Given the description of an element on the screen output the (x, y) to click on. 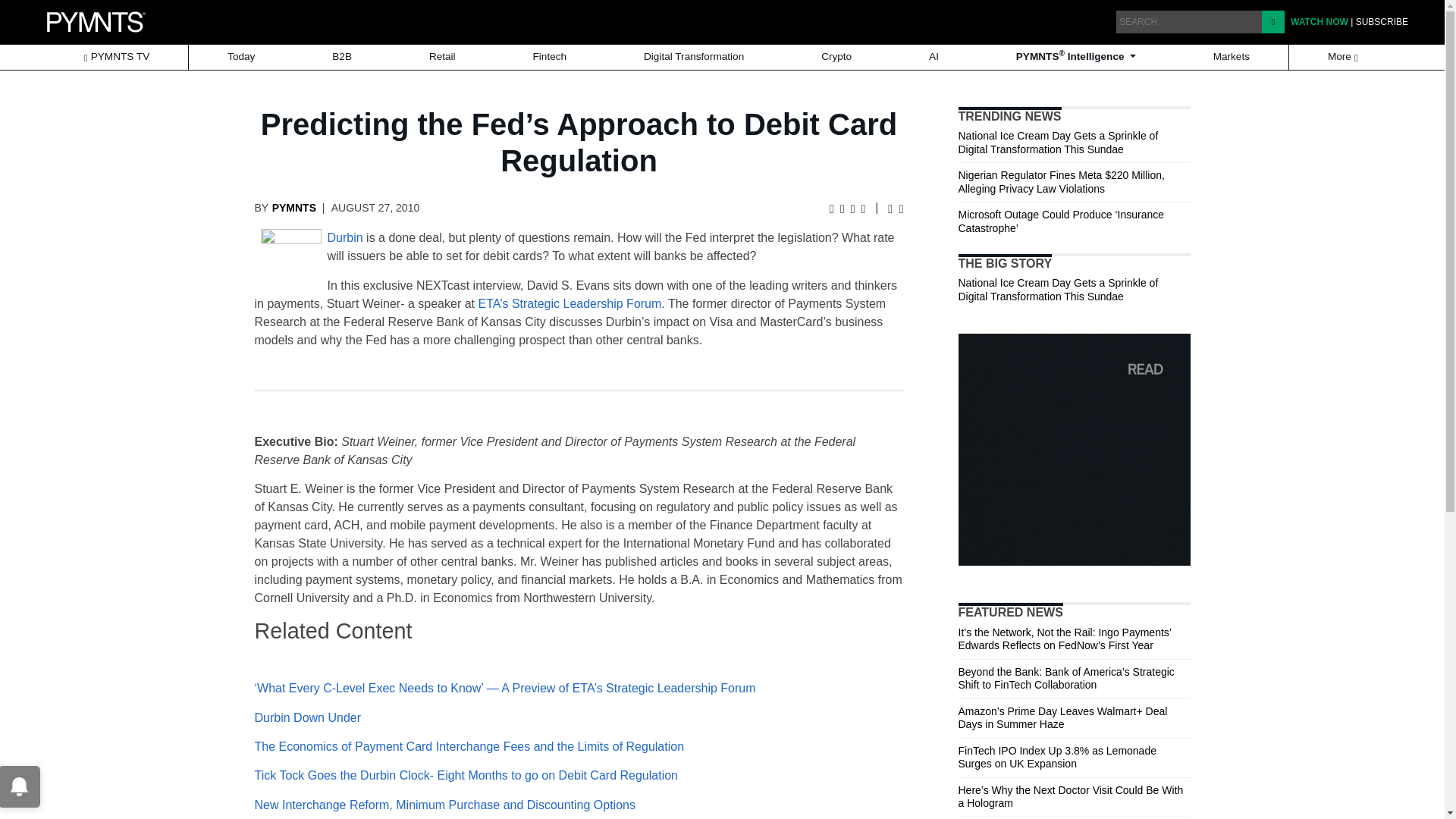
WATCH NOW (1319, 21)
Crypto (836, 57)
SUBSCRIBE (1381, 21)
B2B (342, 57)
Markets (1231, 57)
Retail (442, 57)
Digital Transformation (694, 57)
Posts by PYMNTS (293, 207)
More  (1343, 57)
Fintech (550, 57)
AI (932, 57)
 PYMNTS TV (116, 57)
Today (241, 57)
